Given the description of an element on the screen output the (x, y) to click on. 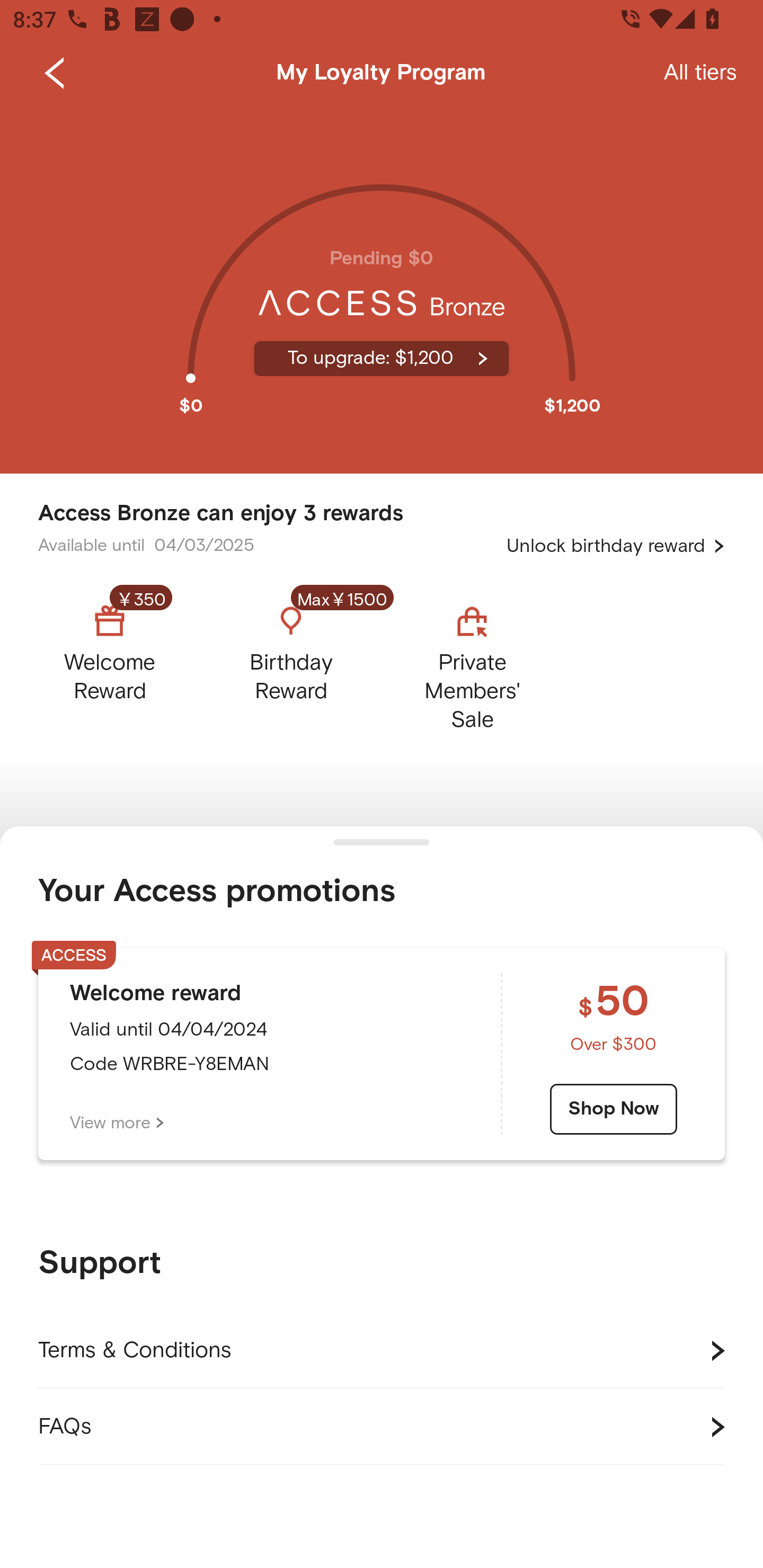
All tiers (700, 72)
Pending $0 To upgrade: $1,200 $0 $1,200 (381, 290)
Unlock birthday reward (615, 546)
￥350 Welcome Reward (125, 662)
Max￥1500 Birthday Reward (290, 662)
Private Members' Sale (471, 662)
Shop Now (613, 1109)
View more (117, 1123)
Terms & Conditions (381, 1350)
FAQs (381, 1426)
